Given the description of an element on the screen output the (x, y) to click on. 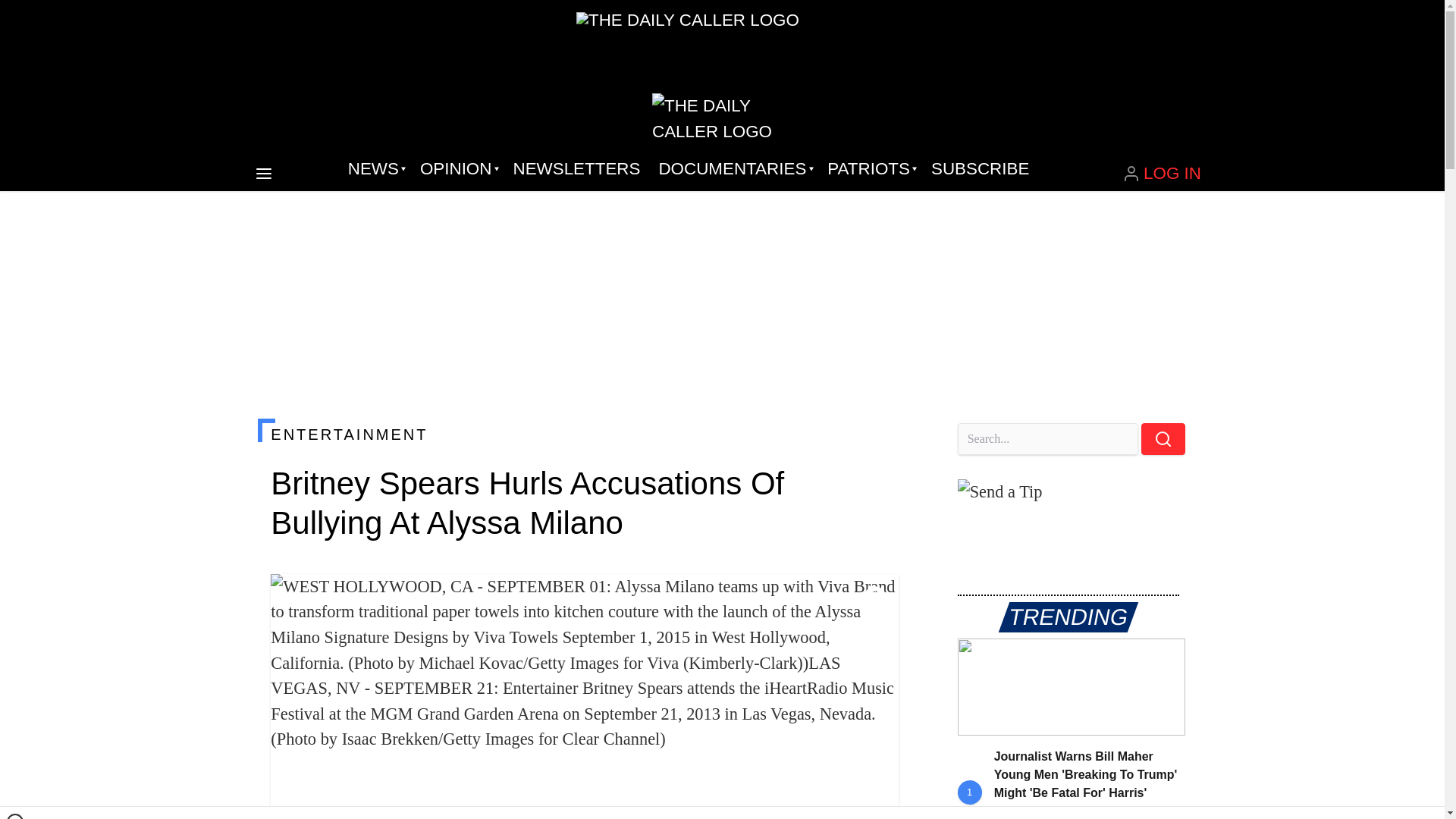
SUBSCRIBE (979, 168)
OPINION (456, 168)
NEWS (374, 168)
NEWSLETTERS (576, 168)
Close window (14, 816)
Toggle fullscreen (874, 597)
PATRIOTS (869, 168)
ENTERTAINMENT (584, 434)
DOCUMENTARIES (733, 168)
